Given the description of an element on the screen output the (x, y) to click on. 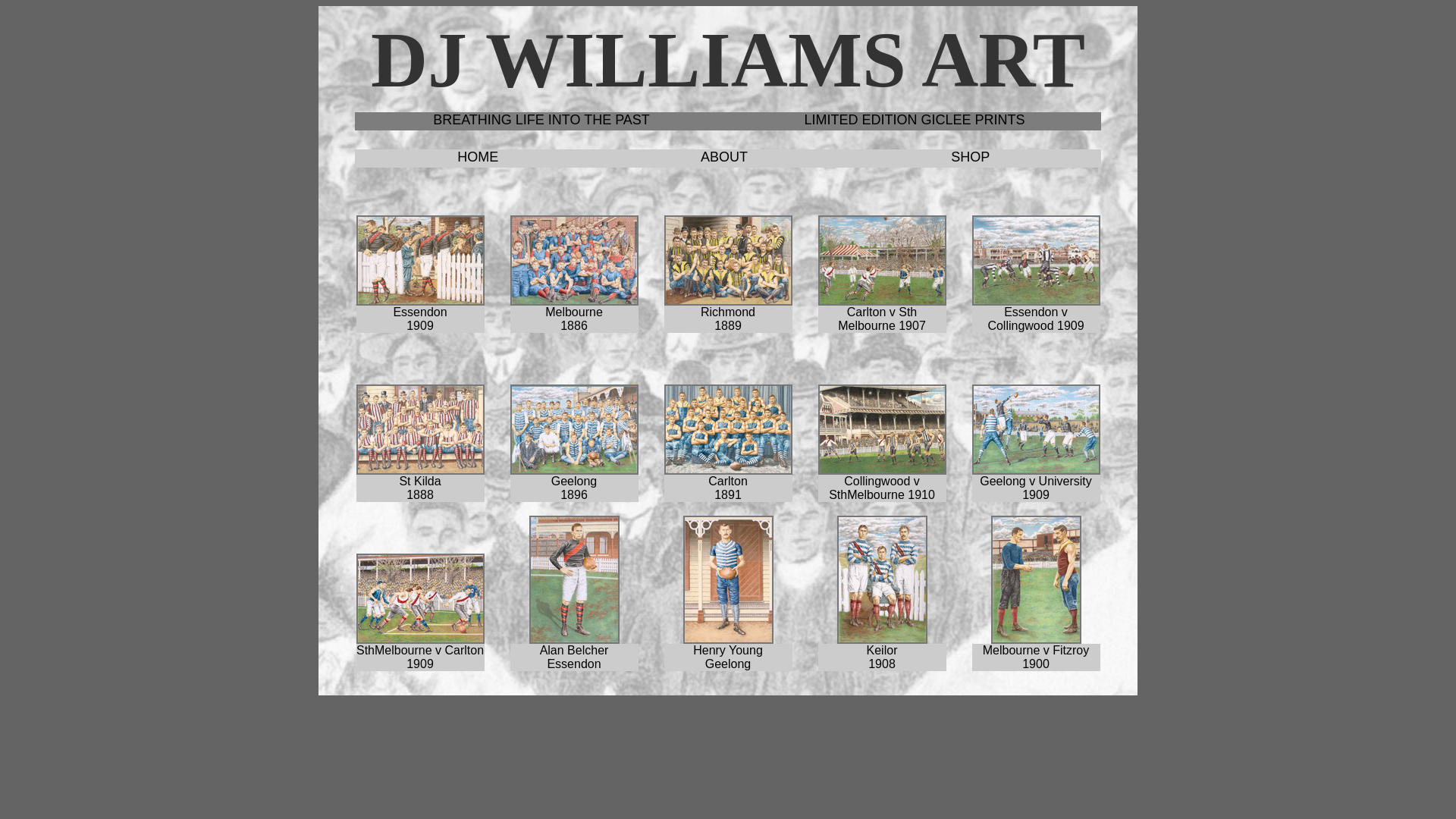
Henry-Young.jpg Element type: hover (727, 579)
Essendon
1909 Element type: text (419, 260)
SHOP Element type: text (969, 156)
Alan Belcher
Essendon Element type: text (574, 579)
Melbourne
1886 Element type: text (574, 260)
SthMelbourne.jpg Element type: hover (881, 429)
ABOUT Element type: text (723, 156)
Henry Young
Geelong Element type: text (727, 579)
Melbourne-Football-Club-1886.jpg Element type: hover (573, 260)
Alan-Belcher-Essendon.jpg Element type: hover (574, 579)
Carlton v Sth Melbourne 1907 Element type: text (882, 260)
4-89-Richmond.jpg Element type: hover (728, 260)
Carlton
1891 Element type: text (727, 429)
9-09-Essendon.jpg Element type: hover (420, 260)
SthMelbourne v Carlton 1909 Element type: text (419, 598)
Carlton.jpg Element type: hover (881, 260)
8-88-StKilda.jpg Element type: hover (420, 429)
Geelong v University
1909 Element type: text (1035, 429)
St Kilda
1888 Element type: text (419, 429)
Collingwood.jpg Element type: hover (1036, 260)
Carlton_1909.jpg Element type: hover (420, 598)
Essendon v Collingwood 1909 Element type: text (1035, 260)
10-96-Geelong.jpg Element type: hover (573, 429)
Melbourne v Fitzroy
1900 Element type: text (1035, 579)
Geelong
1896 Element type: text (574, 429)
Fitzroy.jpg Element type: hover (1035, 579)
HOME Element type: text (477, 156)
Collingwood v SthMelbourne 1910 Element type: text (882, 429)
Richmond
1889 Element type: text (727, 260)
Keilor
1908 Element type: text (882, 579)
6-08-Keilor.jpg Element type: hover (882, 579)
University.jpg Element type: hover (1036, 429)
1-91-Carlton.jpg Element type: hover (728, 429)
